Given the description of an element on the screen output the (x, y) to click on. 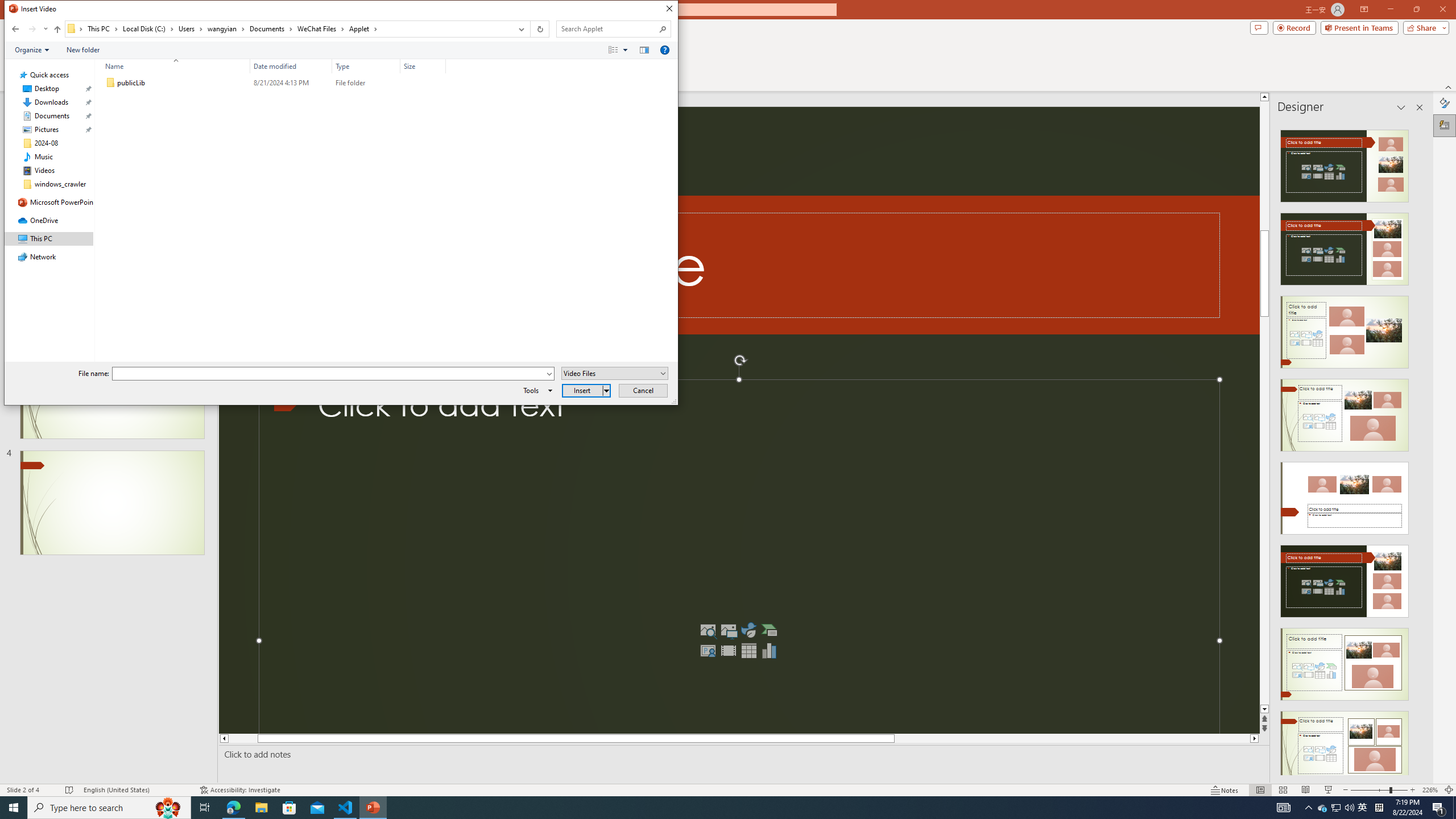
Format Background (1444, 102)
publicLib (273, 82)
Class: UIImage (111, 82)
Views (620, 49)
Recommended Design: Design Idea (1344, 162)
View Slider (625, 49)
All locations (75, 28)
File name: (333, 373)
Insert Table (748, 650)
